Given the description of an element on the screen output the (x, y) to click on. 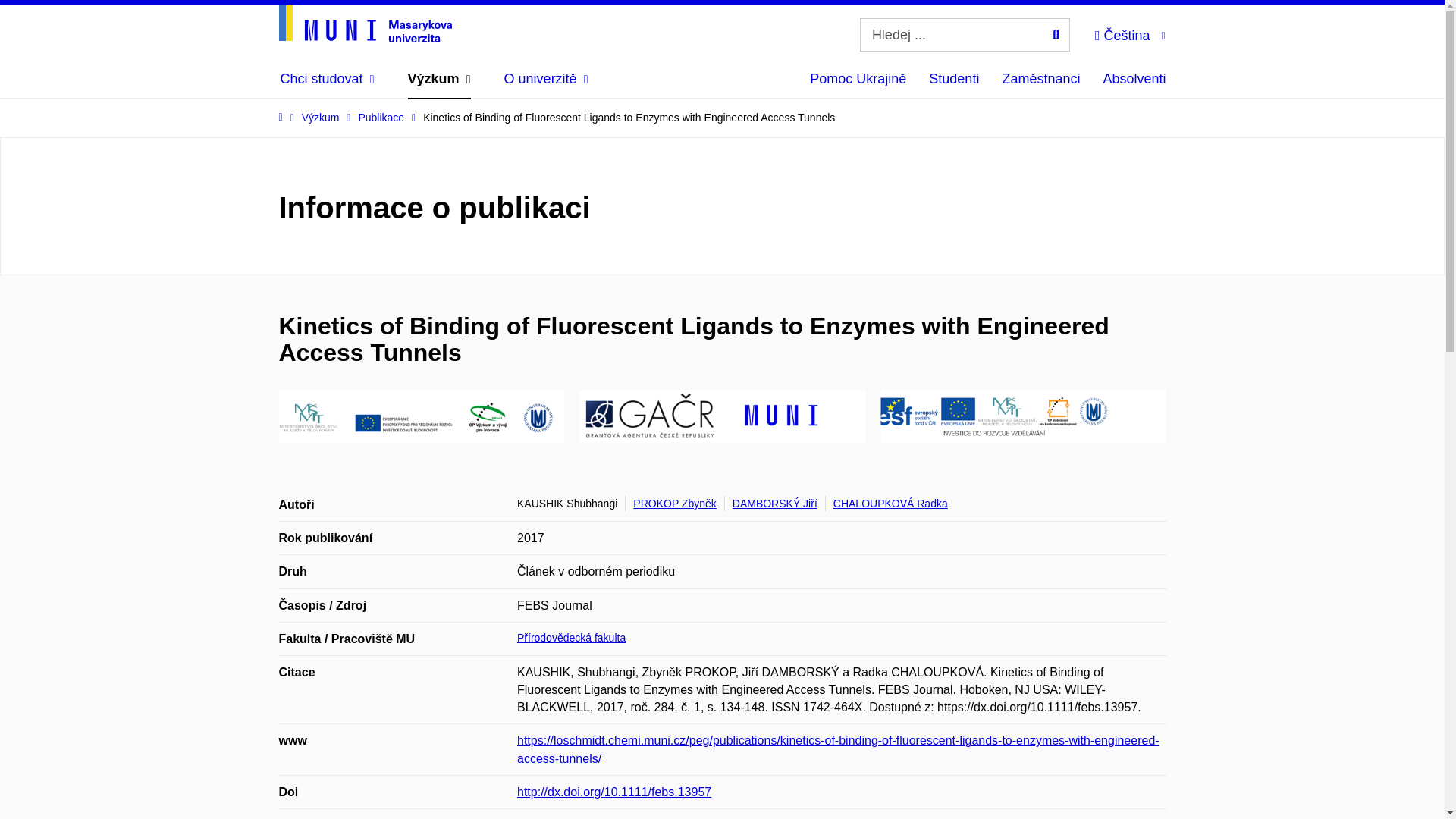
Homepage webu (365, 23)
Chci studovat (327, 78)
